Given the description of an element on the screen output the (x, y) to click on. 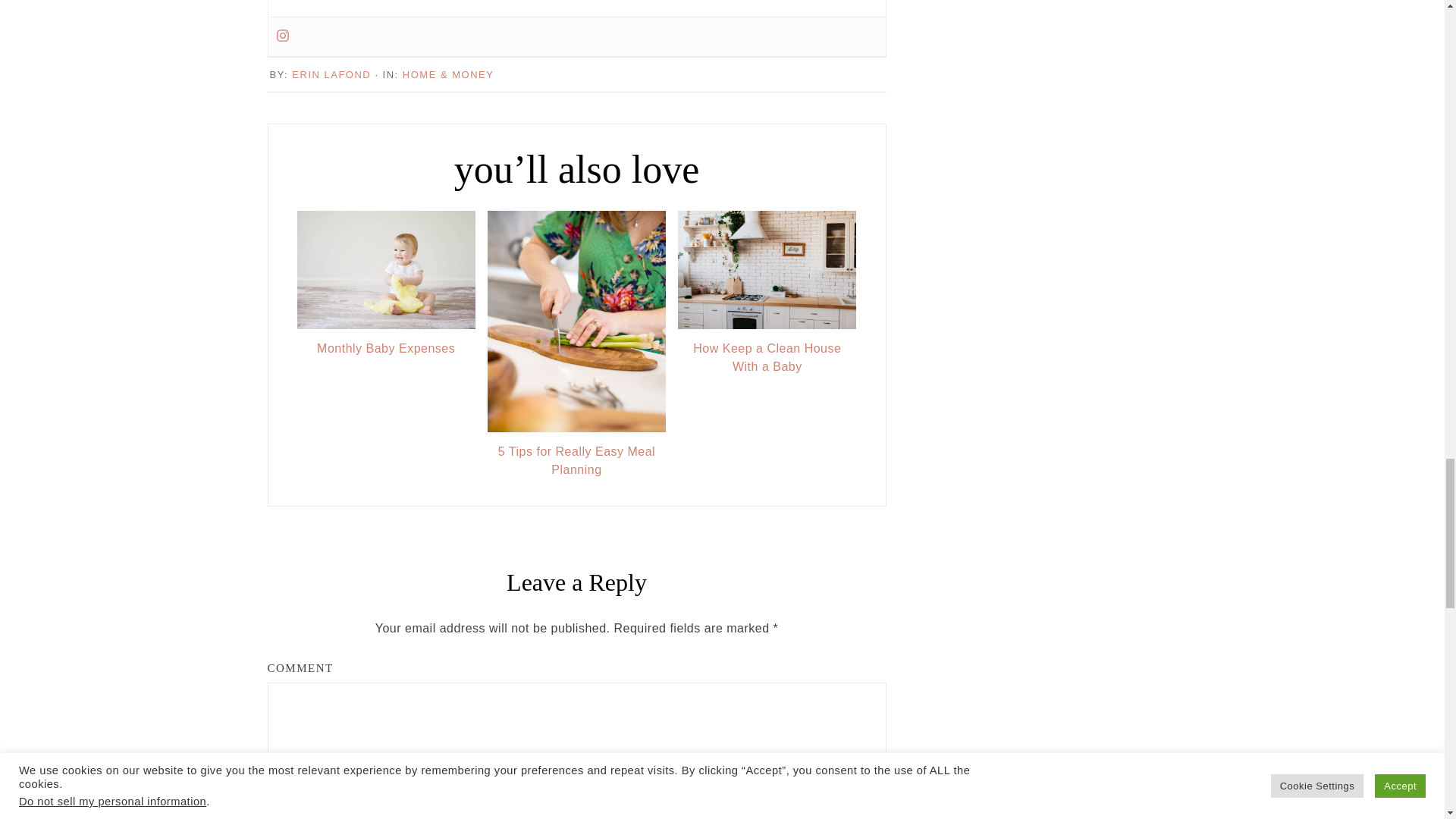
Permanent Link to How Keep a Clean House With a Baby (767, 324)
Permanent Link to How Keep a Clean House With a Baby (767, 357)
ERIN LAFOND (331, 74)
Permanent Link to Monthly Baby Expenses (386, 348)
Permanent Link to 5 Tips for Really Easy Meal Planning (576, 460)
Permanent Link to 5 Tips for Really Easy Meal Planning (576, 427)
Permanent Link to Monthly Baby Expenses (386, 324)
